Given the description of an element on the screen output the (x, y) to click on. 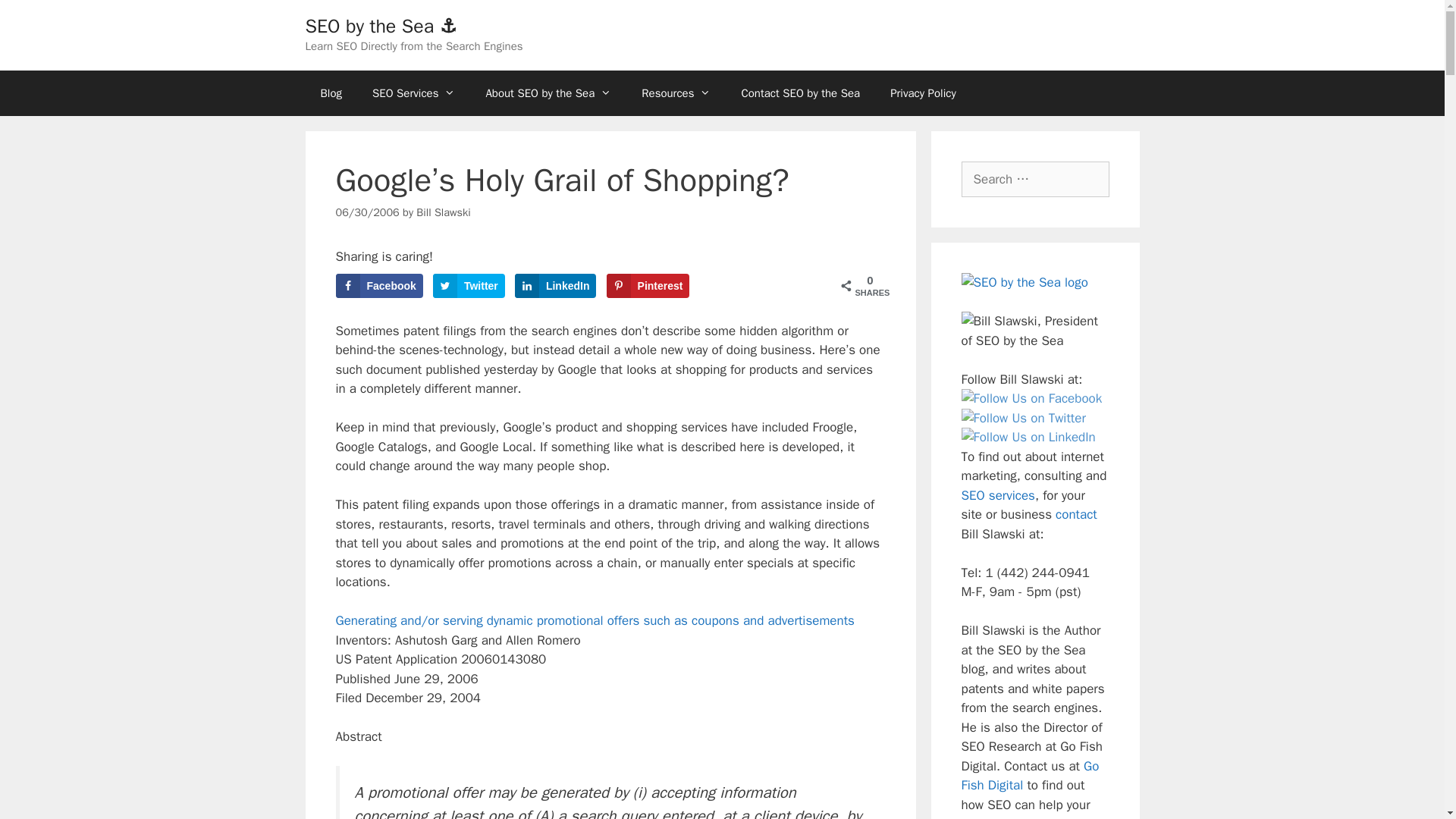
Contact SEO by the Sea (800, 92)
View all posts by Bill Slawski (443, 212)
LinkedIn (555, 285)
Bill Slawski (443, 212)
Pinterest (648, 285)
Share on LinkedIn (555, 285)
Facebook (378, 285)
Resources (675, 92)
Search (35, 18)
About SEO by the Sea (548, 92)
Privacy Policy (923, 92)
Share on Twitter (468, 285)
Search for: (1034, 178)
Save to Pinterest (648, 285)
Follow Us on LinkedIn (1028, 437)
